Given the description of an element on the screen output the (x, y) to click on. 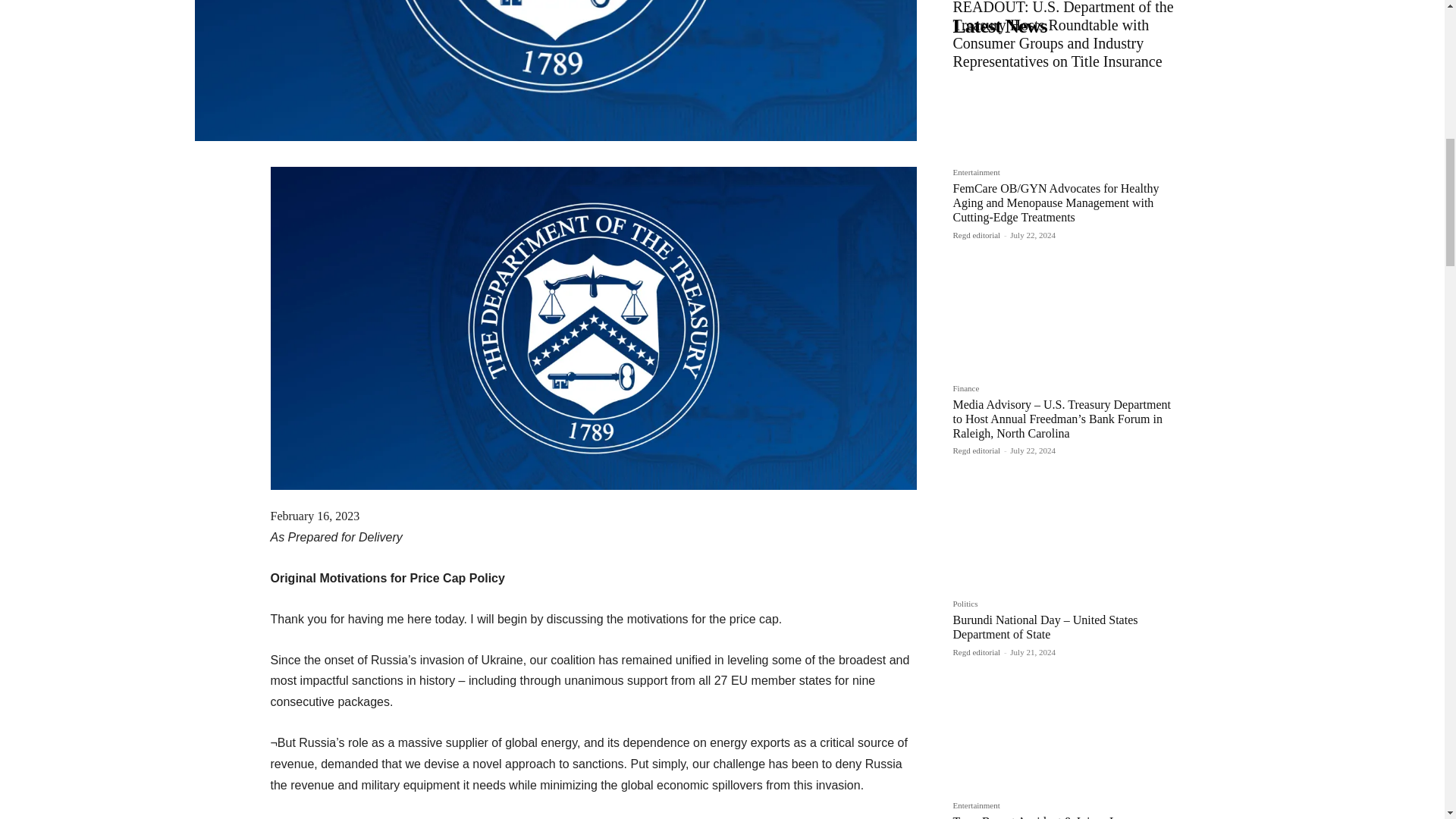
Entertainment (975, 174)
Regd editorial (976, 234)
